Given the description of an element on the screen output the (x, y) to click on. 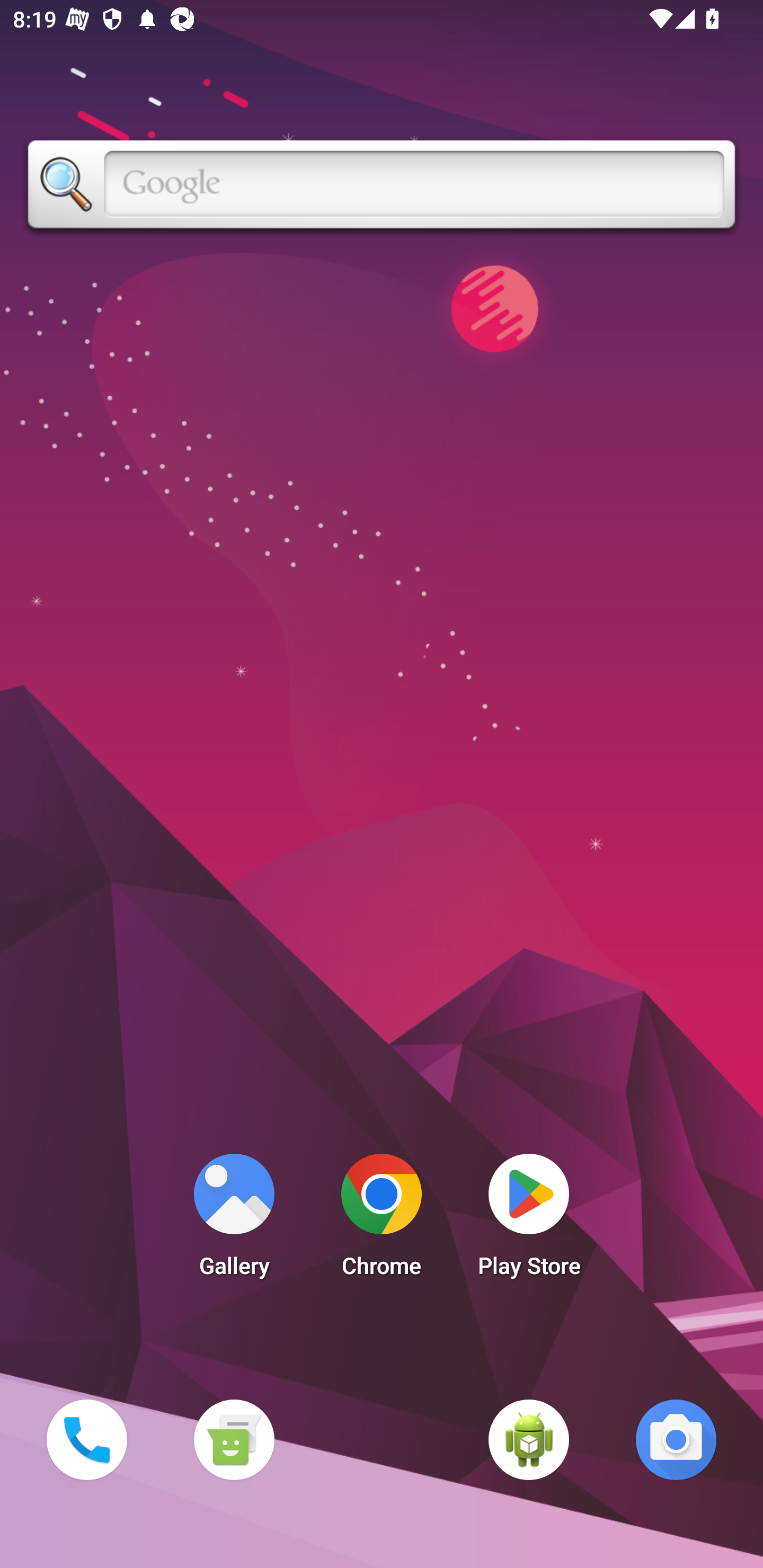
Gallery (233, 1220)
Chrome (381, 1220)
Play Store (528, 1220)
Phone (86, 1439)
Messaging (233, 1439)
WebView Browser Tester (528, 1439)
Camera (676, 1439)
